Given the description of an element on the screen output the (x, y) to click on. 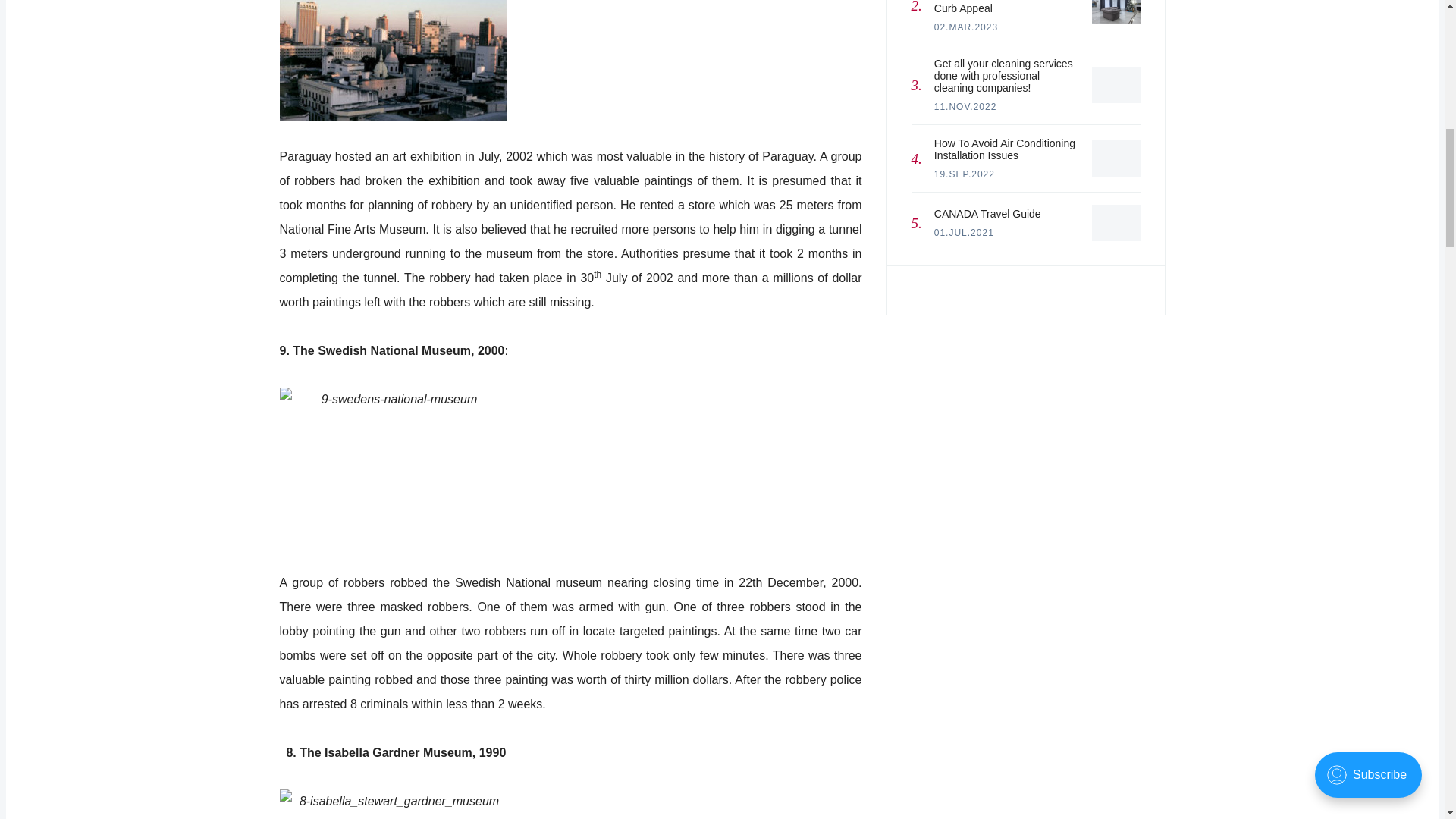
19 September 2022 (964, 173)
02 March 2023 (965, 27)
Easy and Smart Ways to Boost Your Home's Winter Curb Appeal (1116, 11)
01 July 2021 (964, 232)
11 November 2022 (1025, 216)
